Given the description of an element on the screen output the (x, y) to click on. 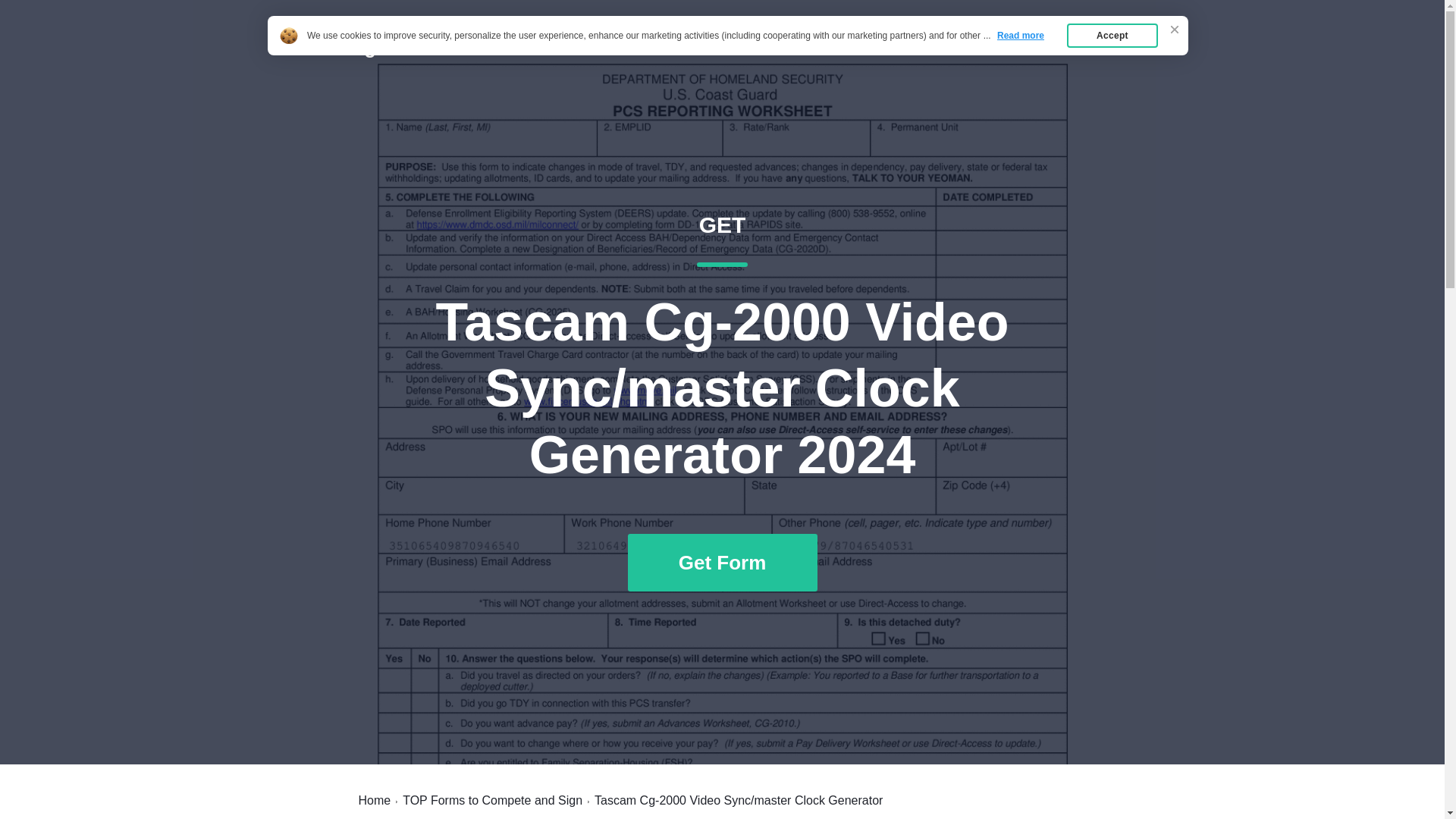
Home (374, 800)
Home (987, 47)
TOP Forms to Compete and Sign (492, 800)
Cg 2005 Form (413, 46)
Top Forms (1062, 47)
